Given the description of an element on the screen output the (x, y) to click on. 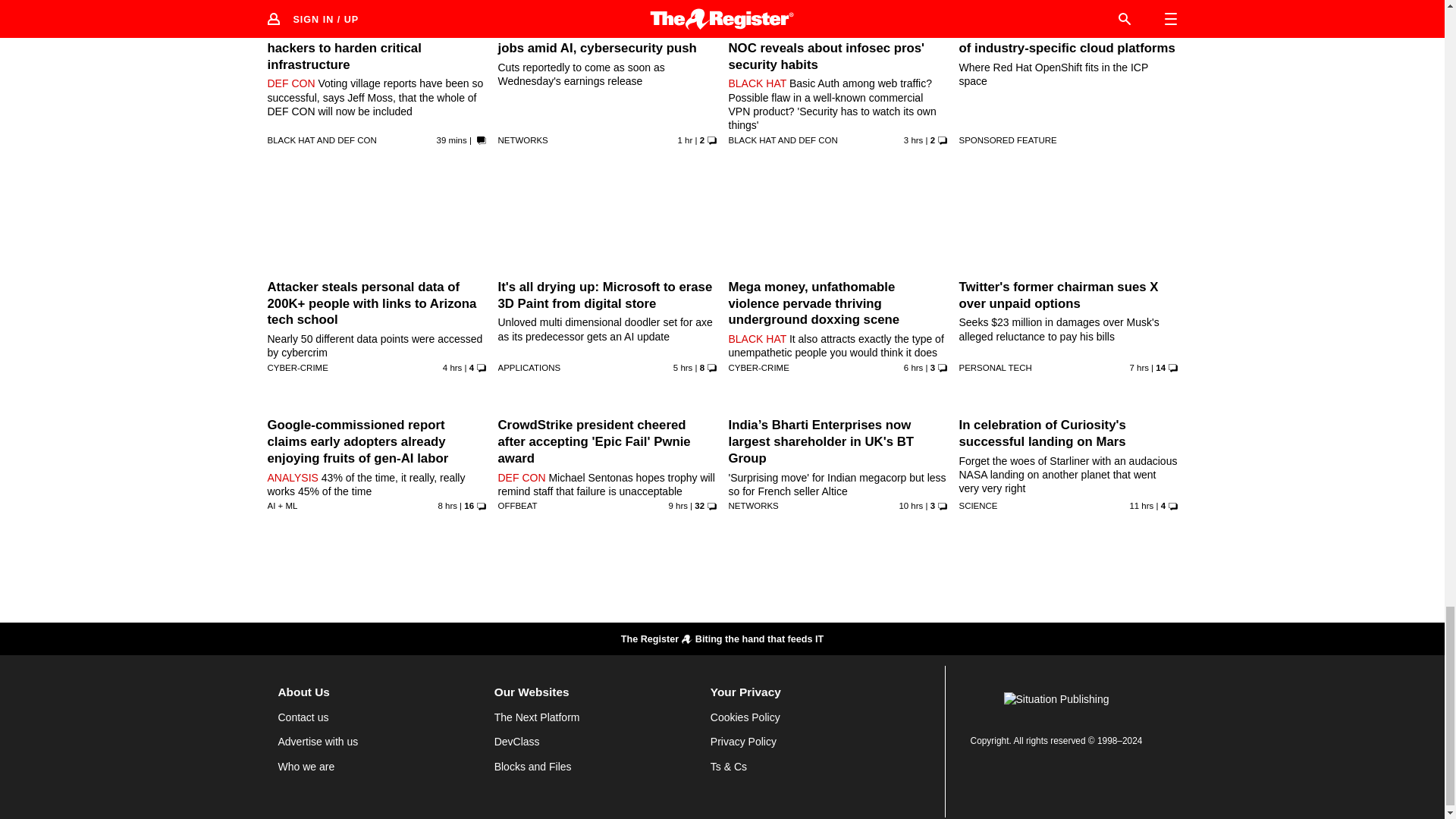
12 Aug 2024 18:29 (685, 139)
12 Aug 2024 19:36 (451, 139)
12 Aug 2024 15:33 (682, 367)
12 Aug 2024 14:24 (913, 367)
12 Aug 2024 17:25 (913, 139)
12 Aug 2024 13:32 (1138, 367)
12 Aug 2024 16:25 (452, 367)
